Given the description of an element on the screen output the (x, y) to click on. 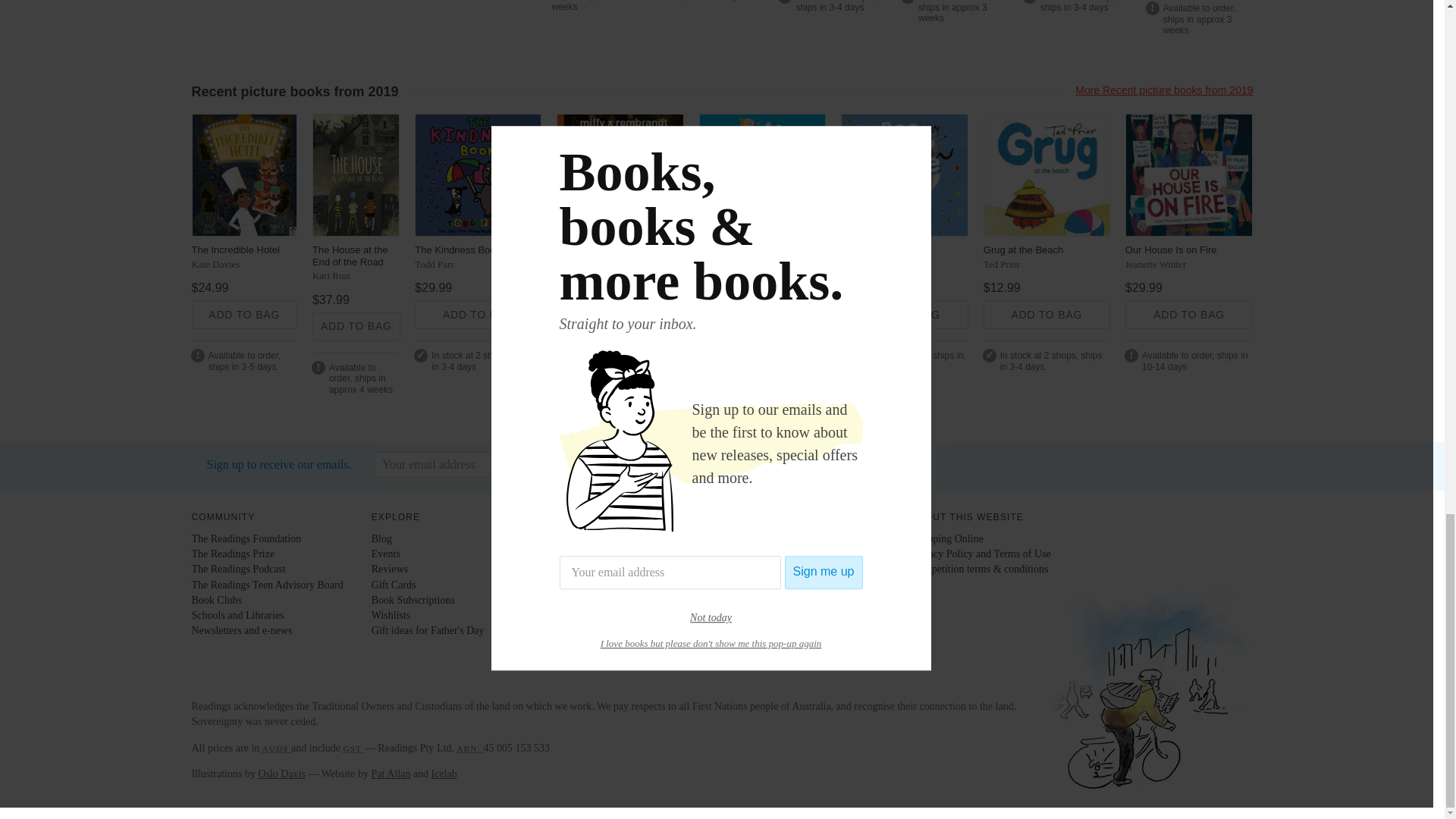
Goods and Services Tax (353, 747)
Australian Dollars (276, 747)
Australian Business Number (470, 747)
